Given the description of an element on the screen output the (x, y) to click on. 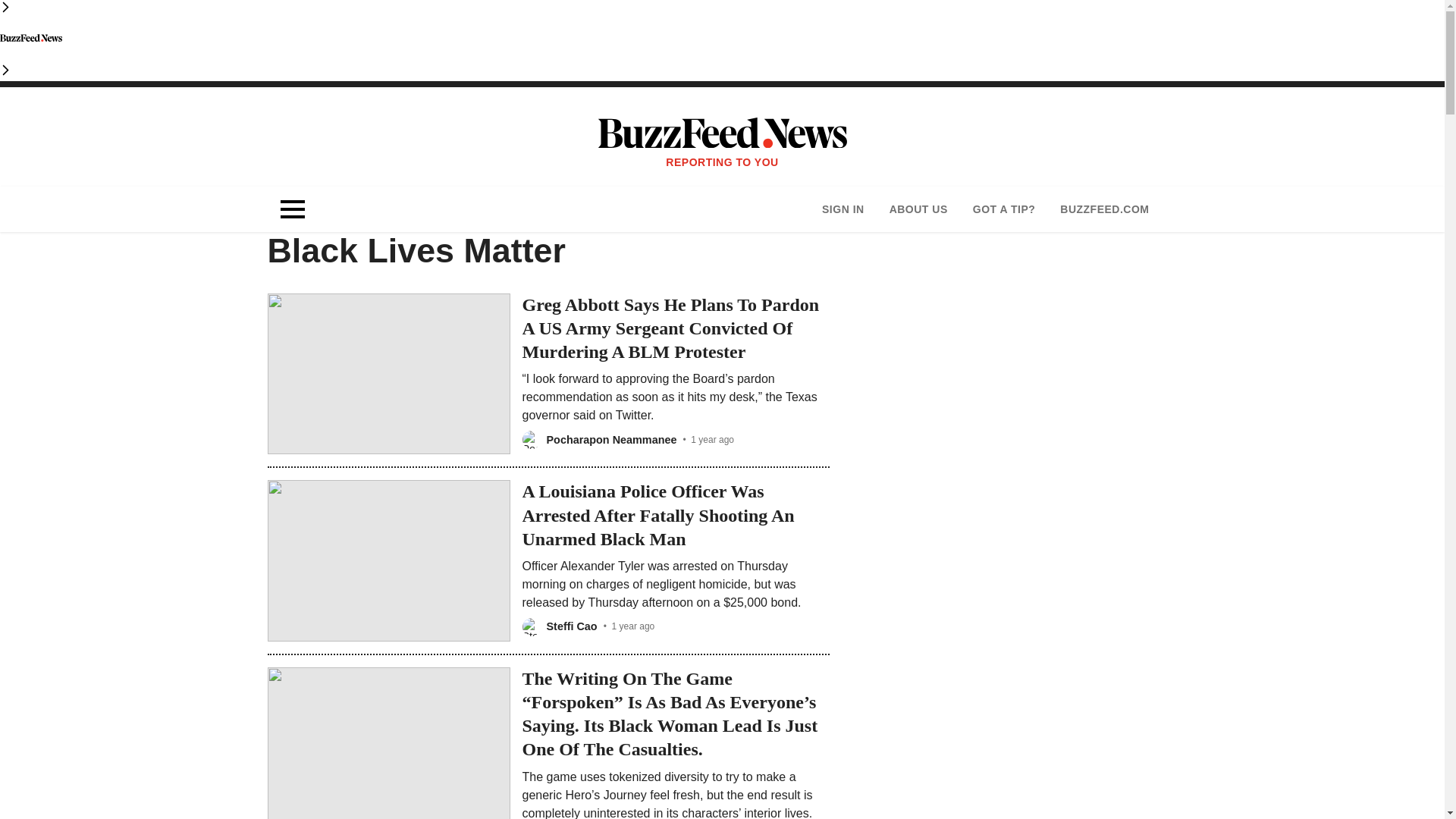
BuzzFeed News (31, 37)
SIGN IN (842, 209)
ABOUT US (917, 209)
GOT A TIP? (1003, 209)
BUZZFEED.COM (1103, 209)
